Given the description of an element on the screen output the (x, y) to click on. 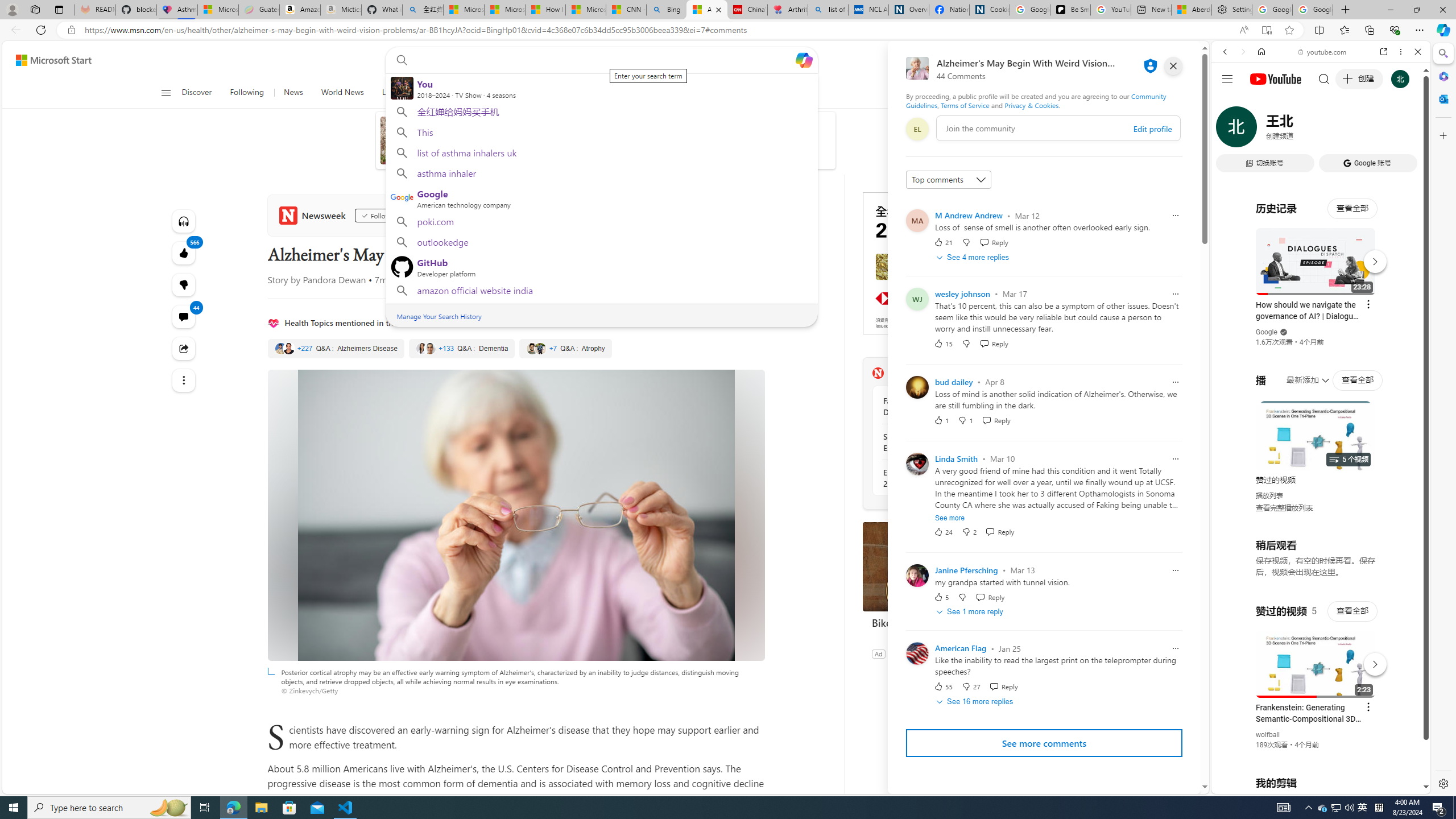
Science (431, 92)
Profile Picture (916, 653)
Janine Pfersching (966, 569)
bud dailey (953, 381)
Entertainment (626, 92)
Alzheimer's May Begin With Weird Vision Problems (706, 9)
566 Like (183, 252)
US[ju] (1249, 785)
Atrophy (565, 348)
YouTube - YouTube (1315, 560)
